Given the description of an element on the screen output the (x, y) to click on. 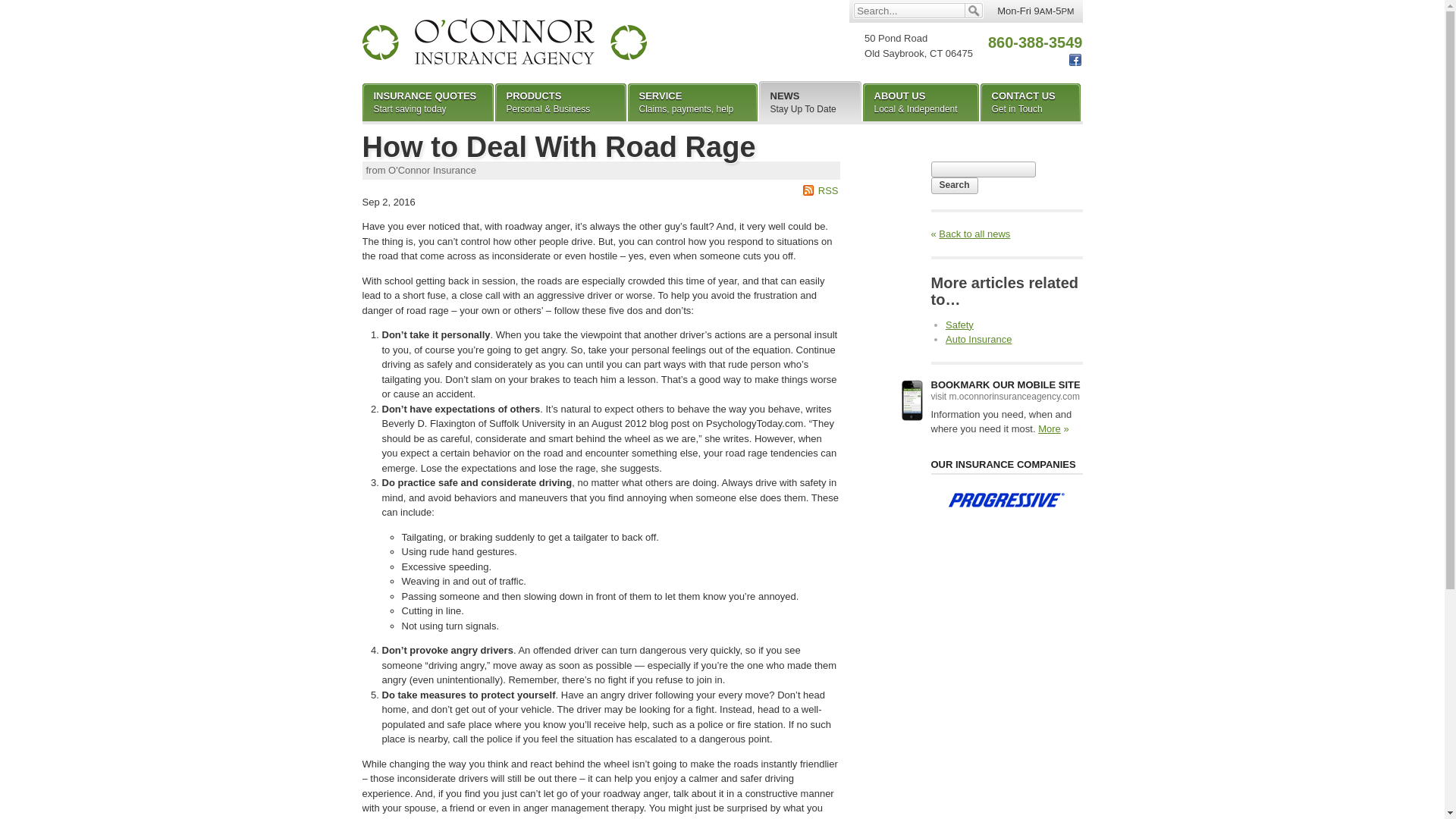
Search (428, 102)
Safety (954, 185)
How to Deal With Road Rage (959, 324)
RSS (558, 146)
Auto Insurance (820, 191)
O'Connor Insurance (1029, 102)
Subscribe to our news feed (977, 338)
Facebook (504, 41)
